Given the description of an element on the screen output the (x, y) to click on. 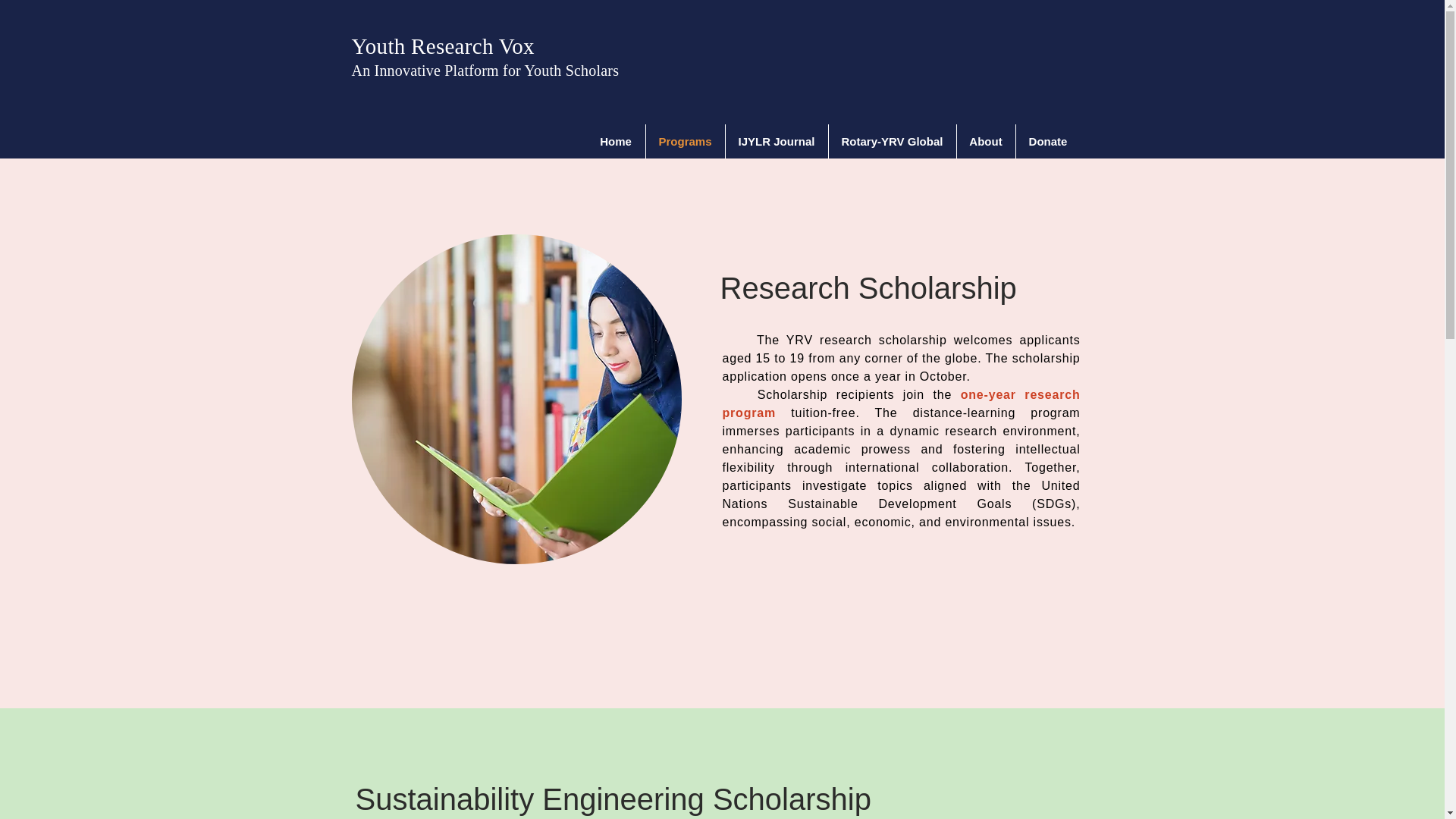
Home (615, 141)
About (985, 141)
Donate (1048, 141)
IJYLR Journal (776, 141)
Programs (685, 141)
Rotary-YRV Global (891, 141)
